Given the description of an element on the screen output the (x, y) to click on. 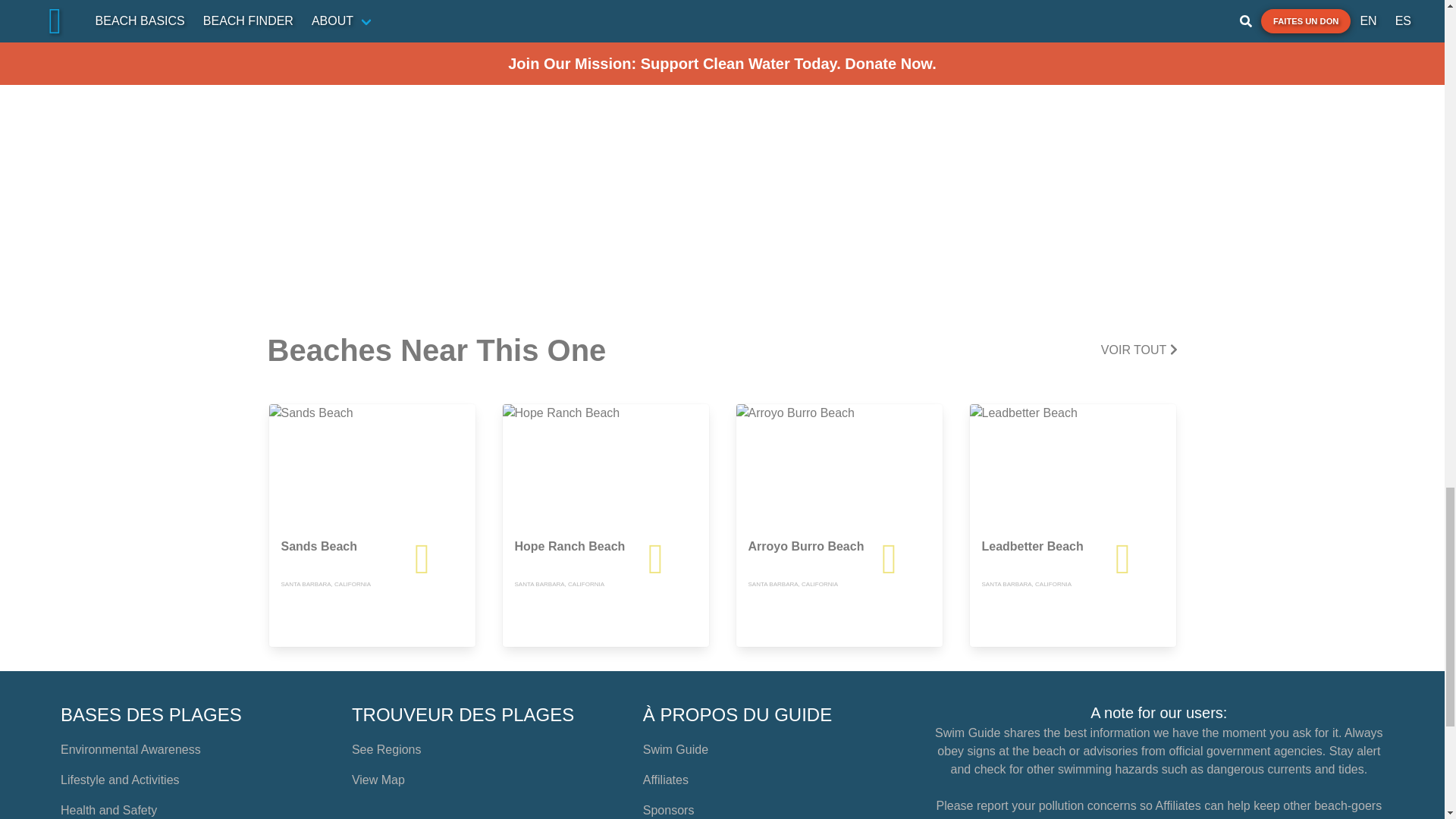
VOIR TOUT (1138, 350)
Environmental Awareness (130, 748)
Lifestyle and Activities (120, 779)
Health and Safety (109, 809)
See Regions (387, 748)
